Given the description of an element on the screen output the (x, y) to click on. 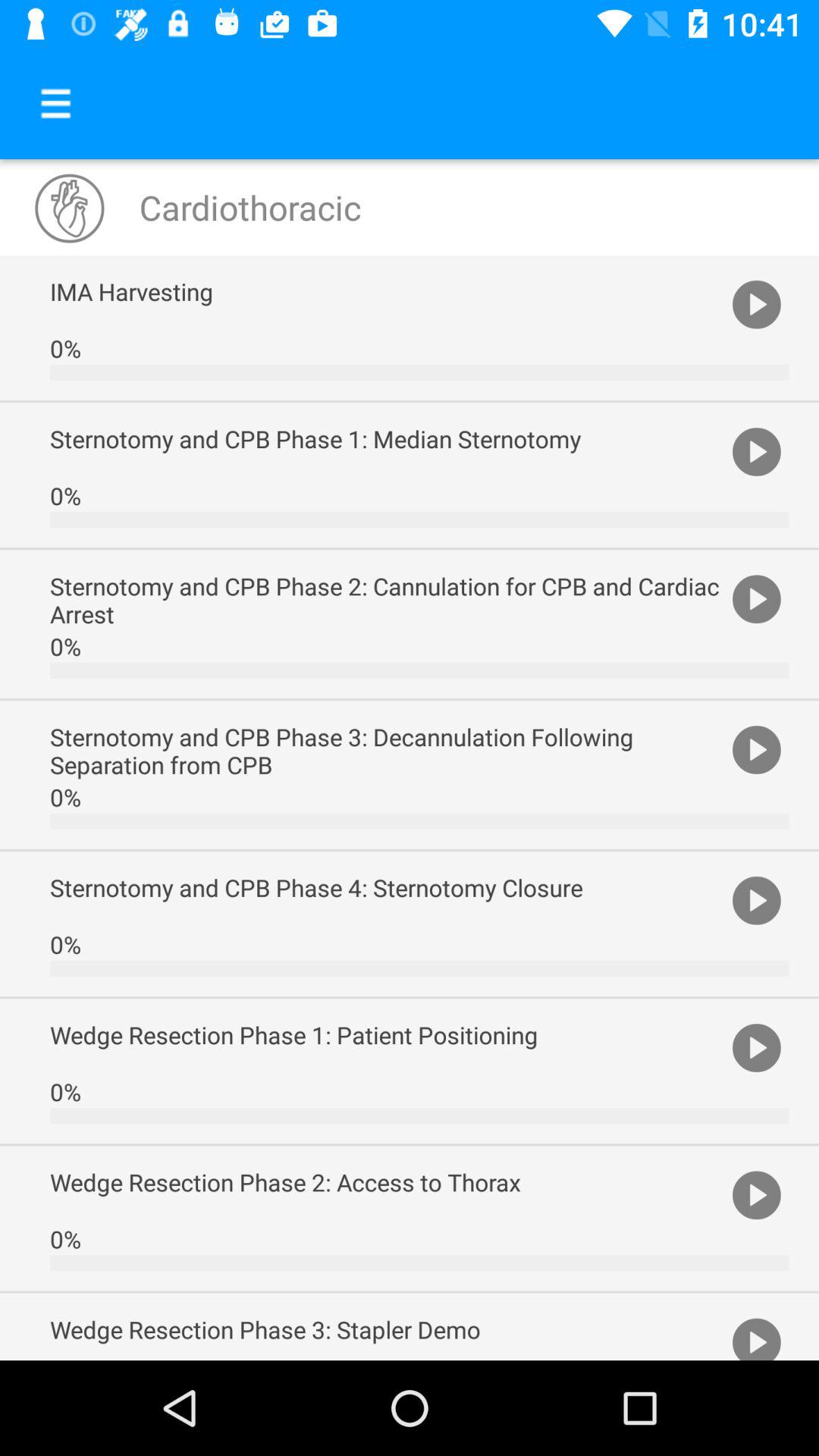
select the item to the right of the sternotomy and cpb (756, 899)
